Given the description of an element on the screen output the (x, y) to click on. 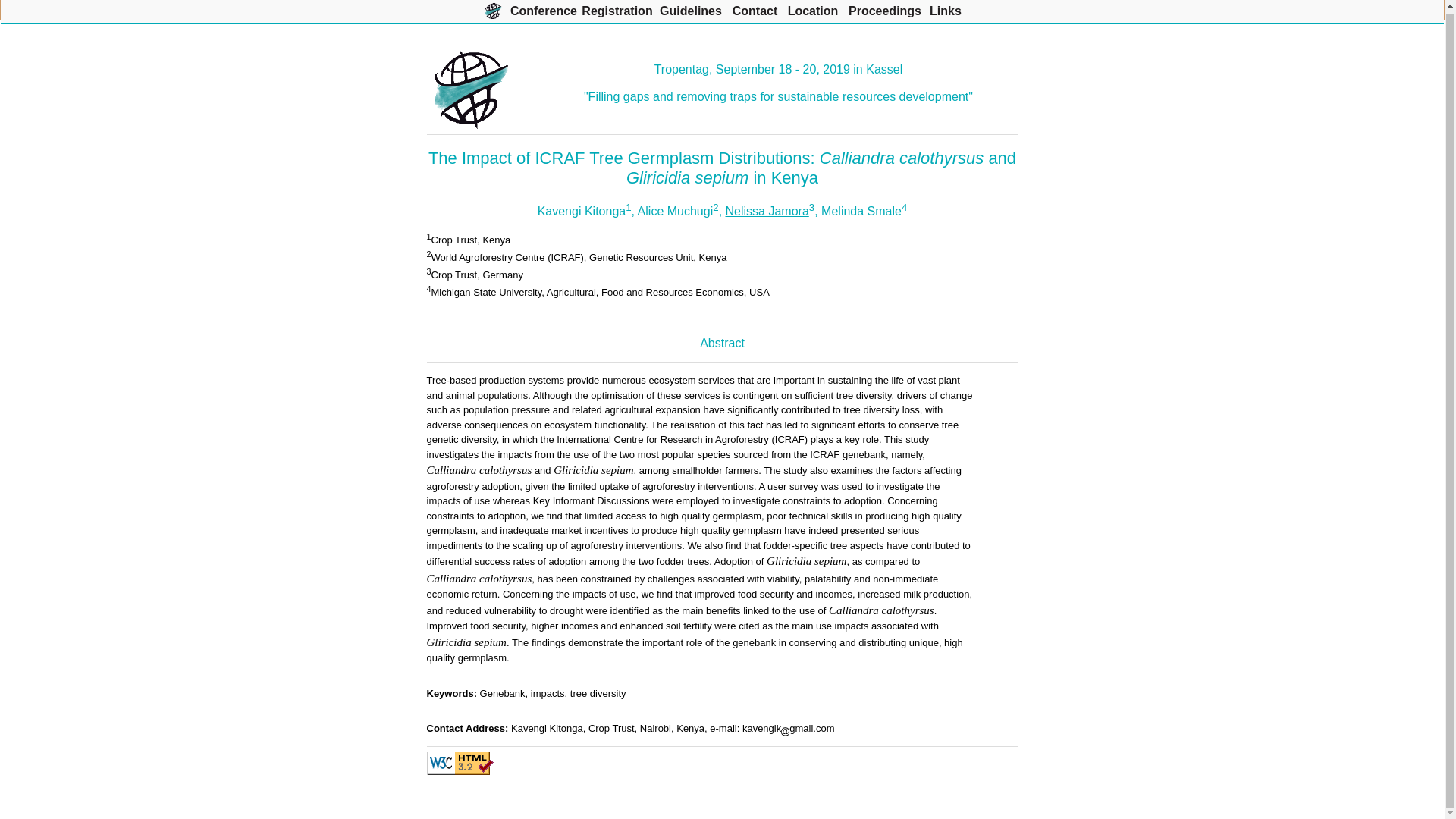
Location (813, 9)
Tropentag 2024 (493, 9)
Registration (616, 9)
Conference (542, 9)
Guidelines (689, 9)
Proceedings (885, 9)
Links (944, 9)
Contact (754, 9)
